Given the description of an element on the screen output the (x, y) to click on. 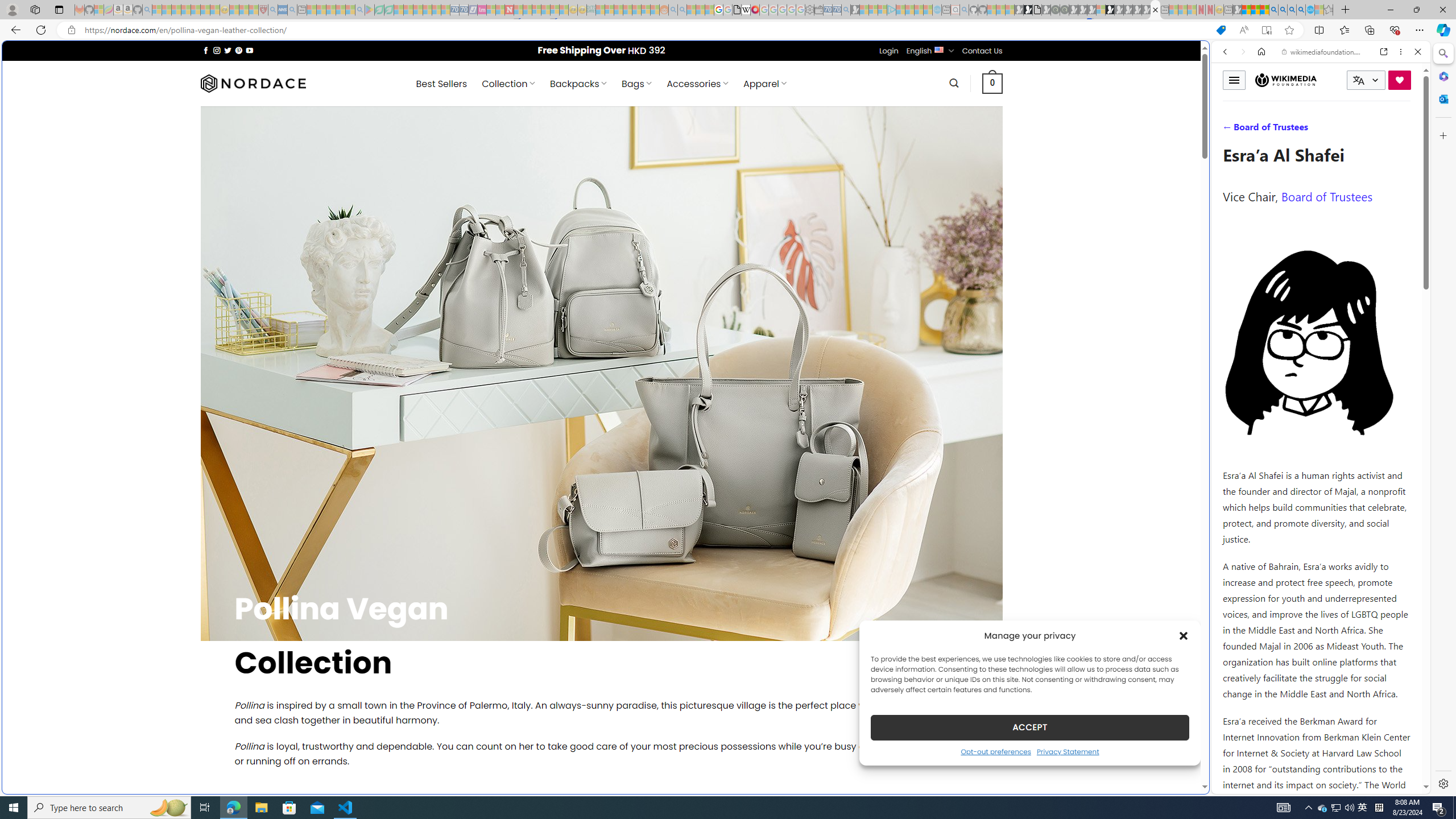
Play Cave FRVR in your browser | Games from Microsoft Start (922, 242)
Jobs - lastminute.com Investor Portal - Sleeping (482, 9)
